Given the description of an element on the screen output the (x, y) to click on. 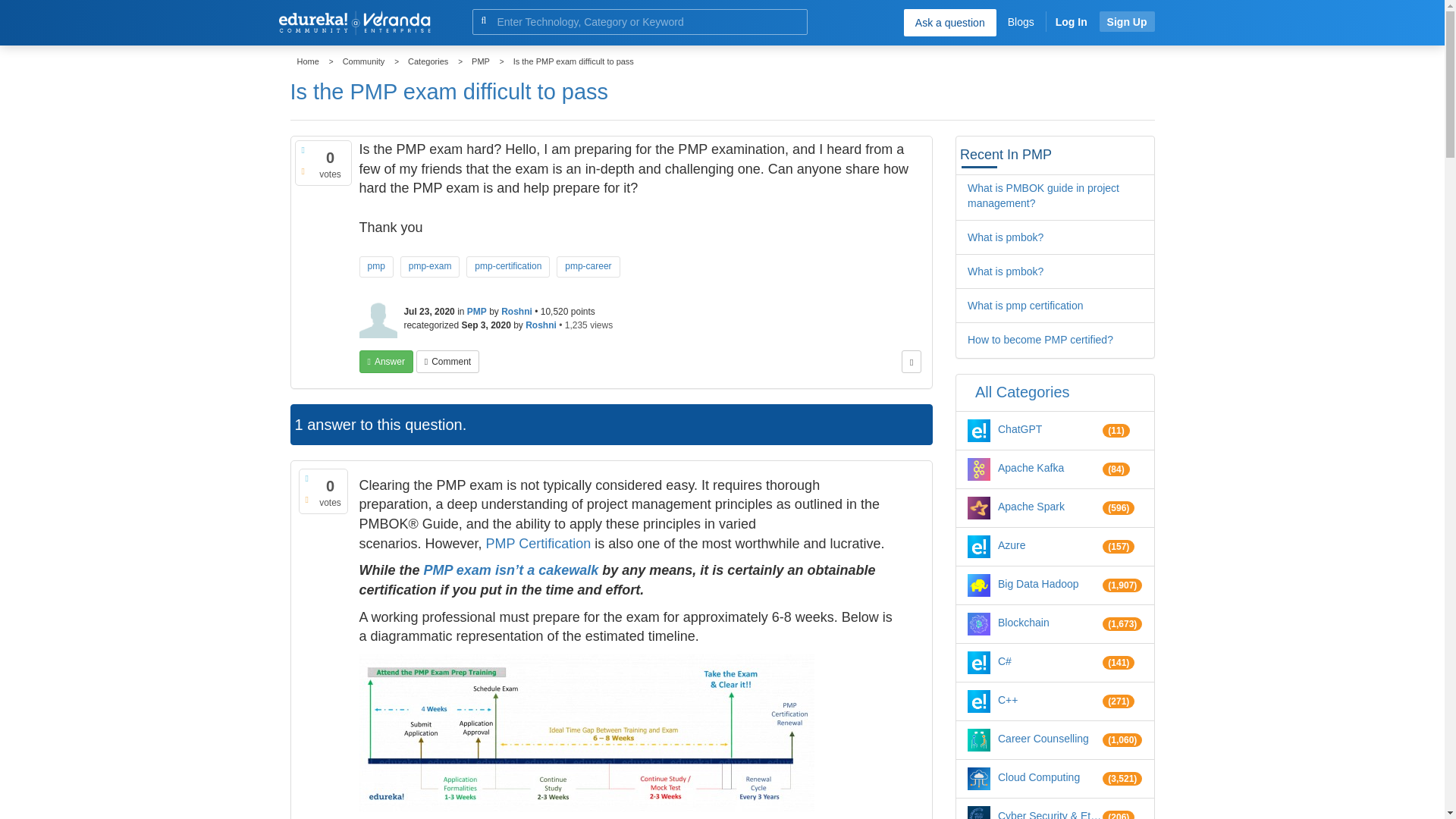
Blogs (1020, 21)
Ask a question (949, 22)
